Given the description of an element on the screen output the (x, y) to click on. 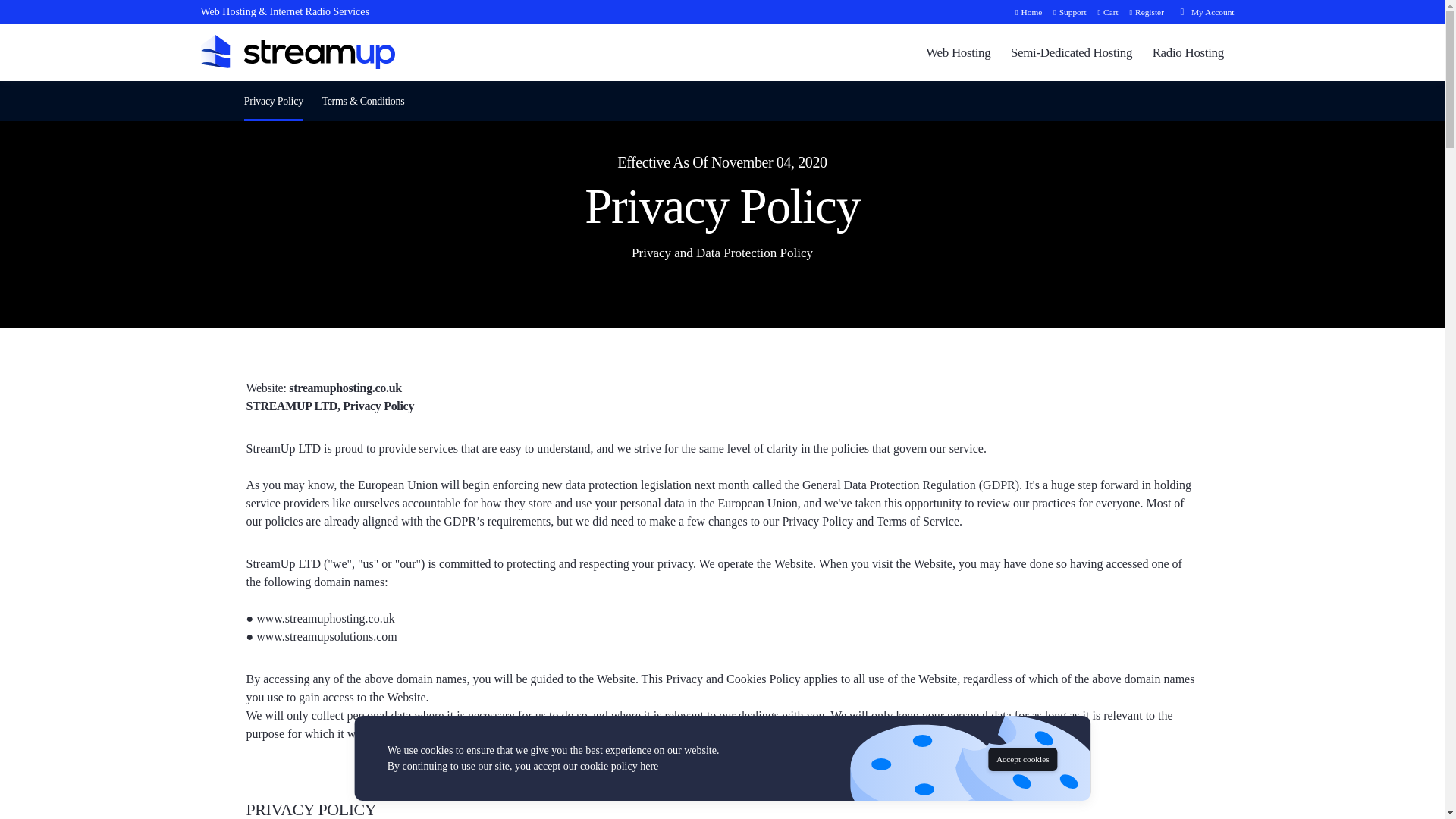
Home (1026, 11)
Radio Hosting (1188, 52)
Cart (1105, 11)
Support (1067, 11)
Web Hosting (958, 52)
My Account (1206, 10)
Semi-Dedicated Hosting (1071, 52)
Register (1143, 11)
